Given the description of an element on the screen output the (x, y) to click on. 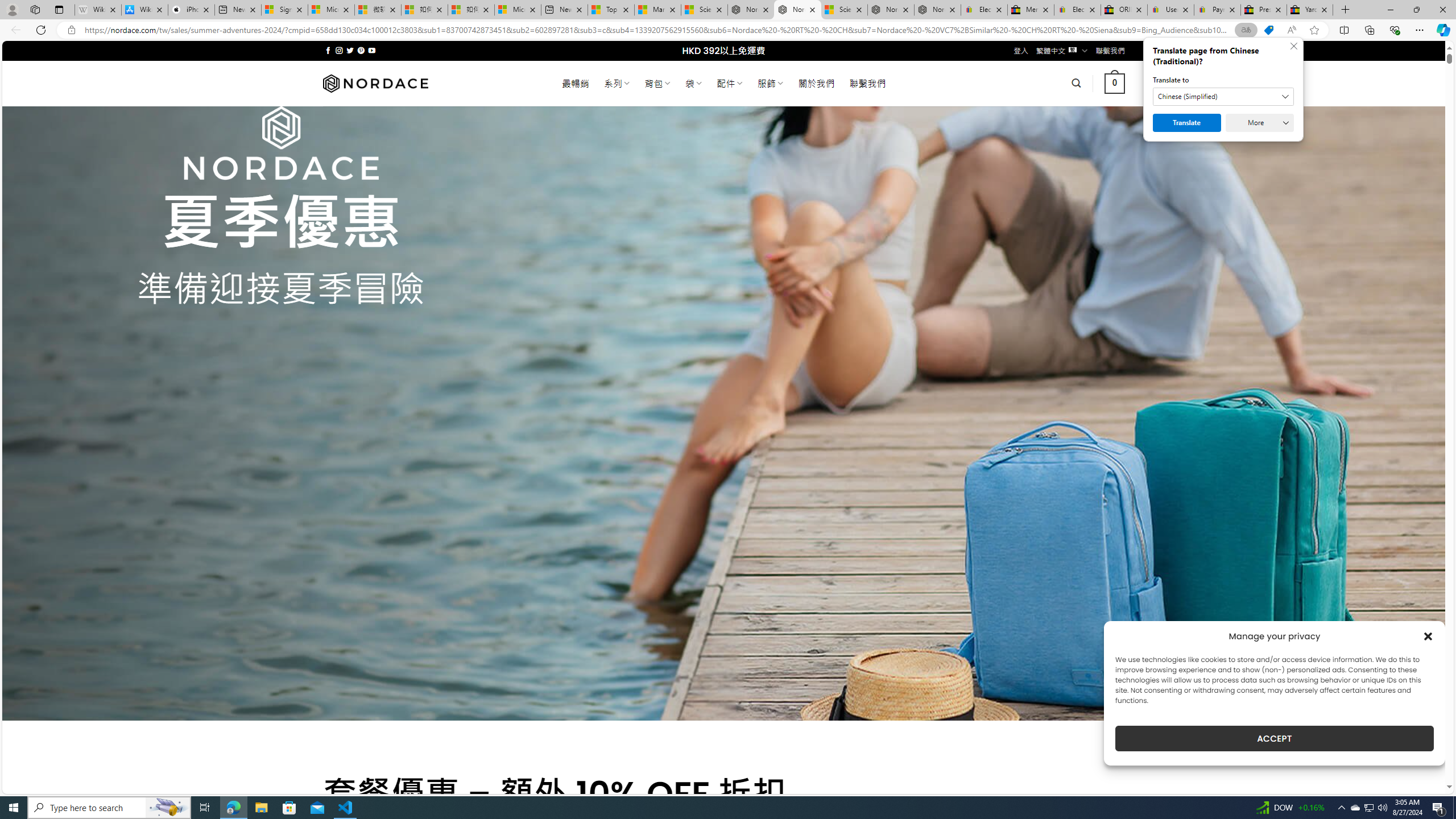
Follow on Pinterest (360, 50)
iPhone - Apple (191, 9)
Follow on YouTube (371, 50)
